Given the description of an element on the screen output the (x, y) to click on. 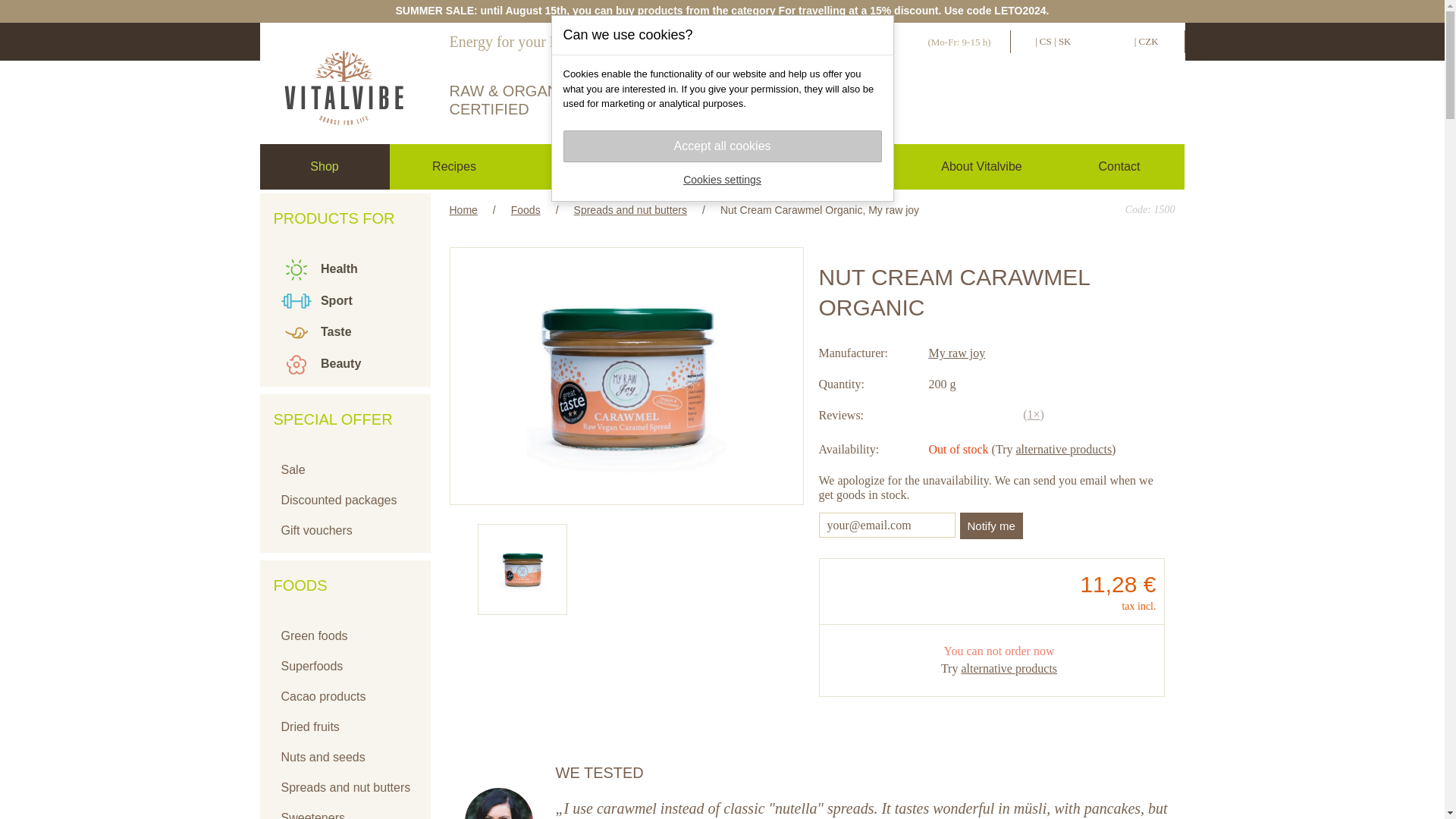
View my shopping cart (1100, 103)
Czech (1045, 41)
EN (1025, 41)
Log in to your customer account (923, 103)
CS (1045, 41)
Homepage (342, 79)
SK (1064, 41)
EUR (1121, 41)
CZK (1148, 41)
